Given the description of an element on the screen output the (x, y) to click on. 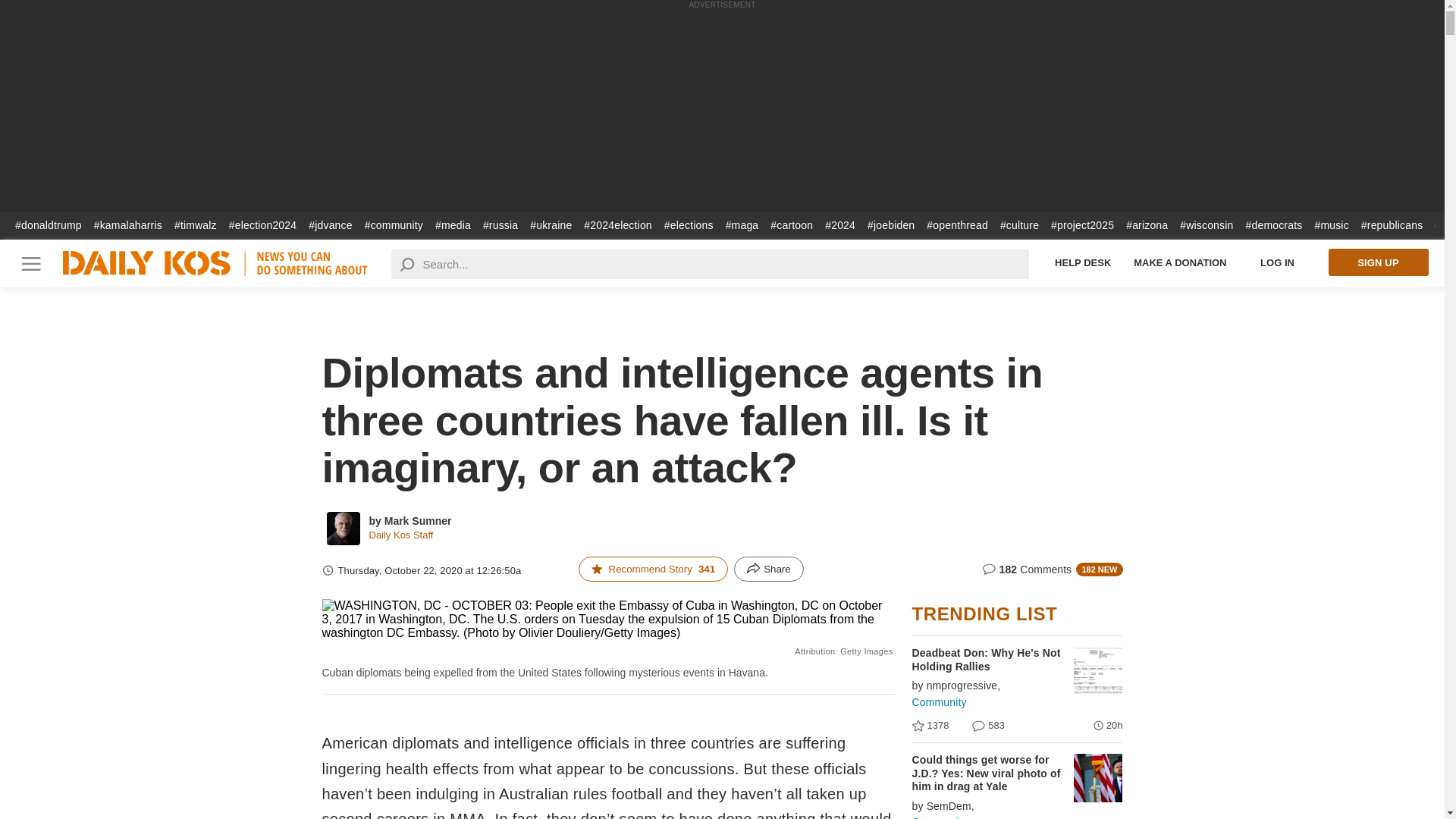
MAKE A DONATION (1179, 262)
Make a Donation (1179, 262)
Help Desk (1082, 262)
